Given the description of an element on the screen output the (x, y) to click on. 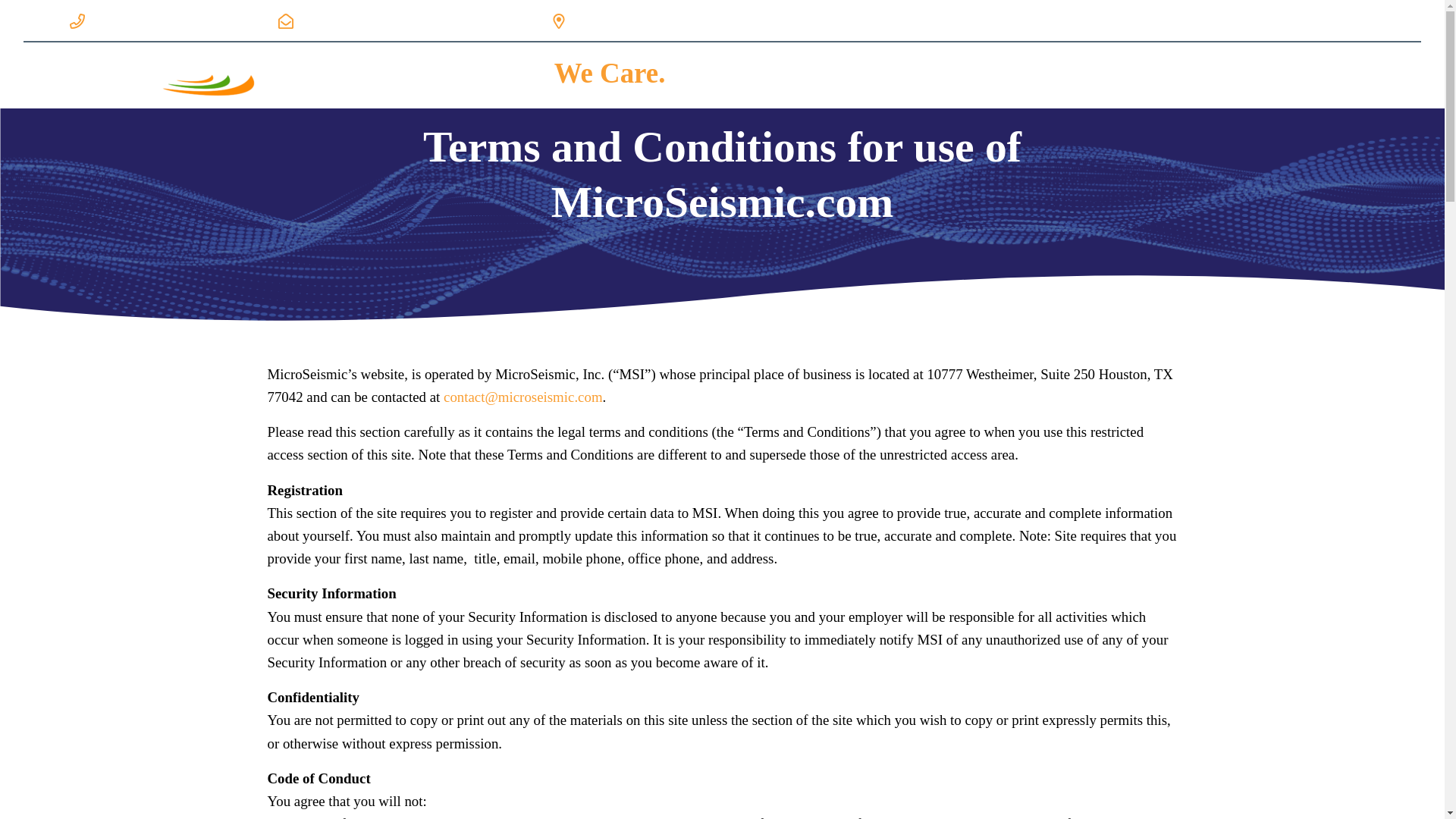
Solutions (939, 73)
Facebook (1236, 20)
Instagram (1277, 20)
LinkedIn (1318, 20)
Our Science (1043, 73)
Home (859, 73)
ESG (1133, 73)
About Us (1214, 73)
X (1400, 20)
